Given the description of an element on the screen output the (x, y) to click on. 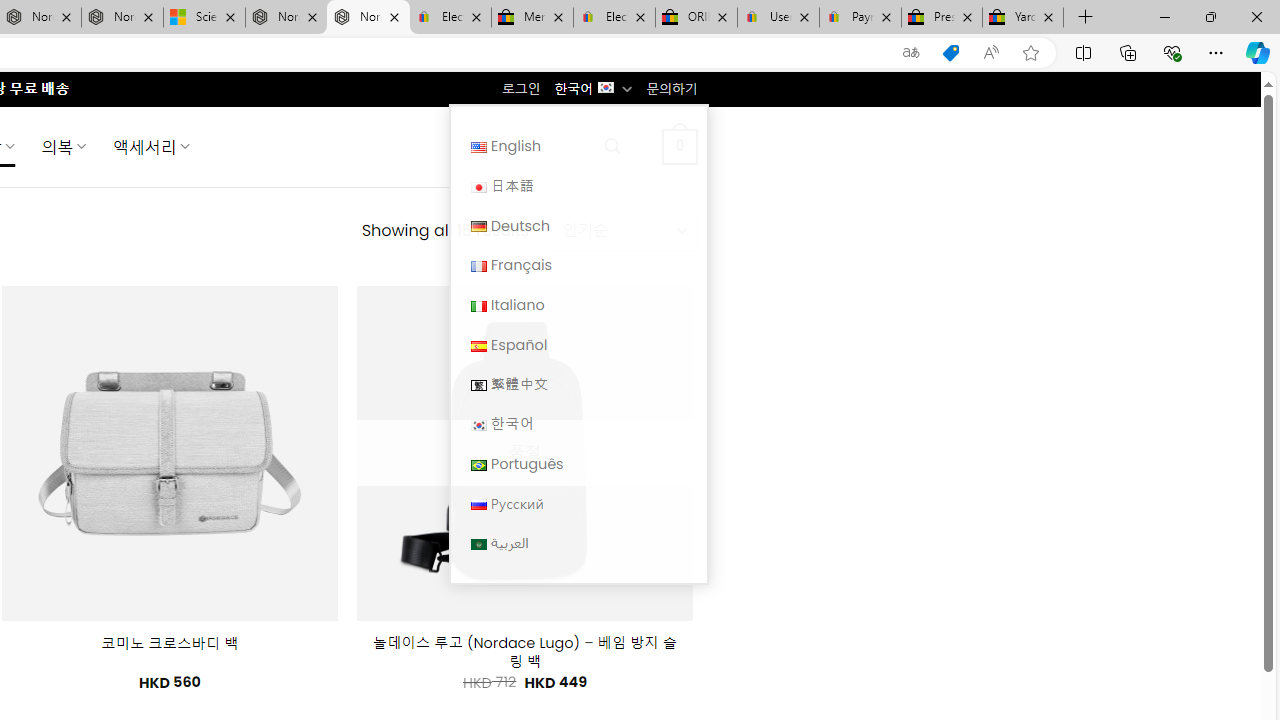
 Italiano (578, 303)
Italiano Italiano (578, 303)
English English (578, 145)
